Given the description of an element on the screen output the (x, y) to click on. 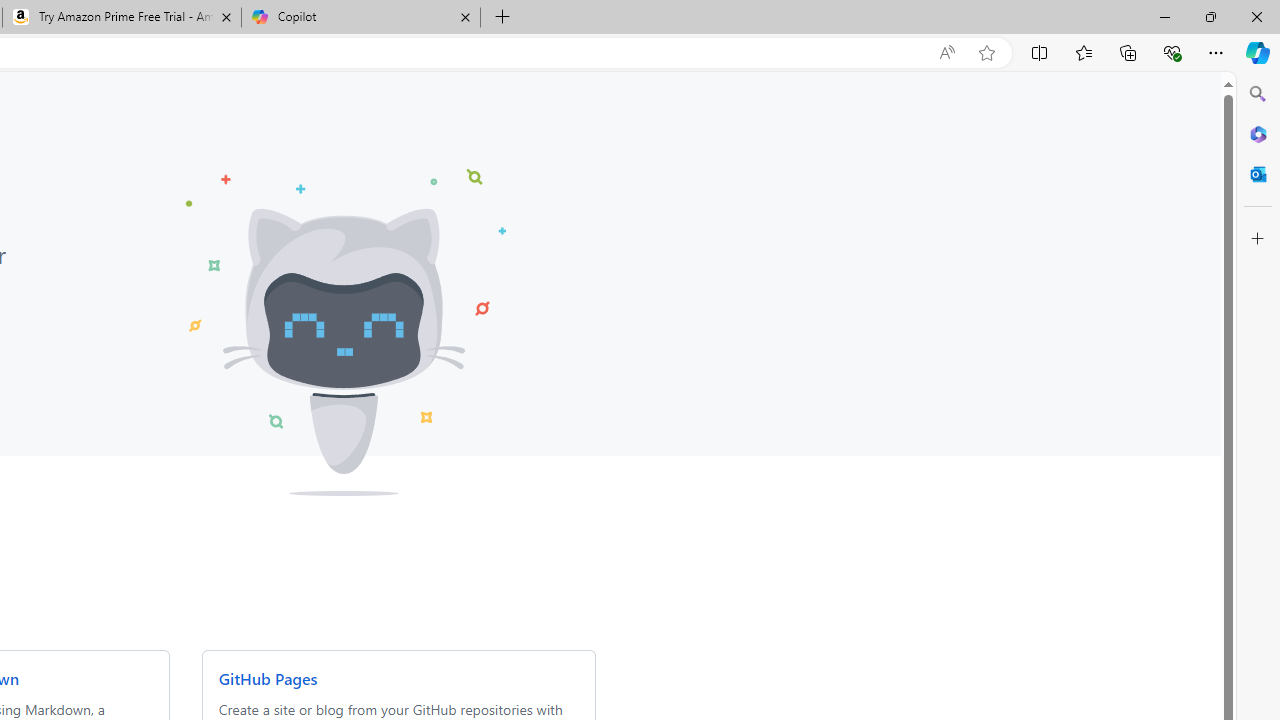
Copilot (360, 17)
GitHub Pages (267, 678)
